Given the description of an element on the screen output the (x, y) to click on. 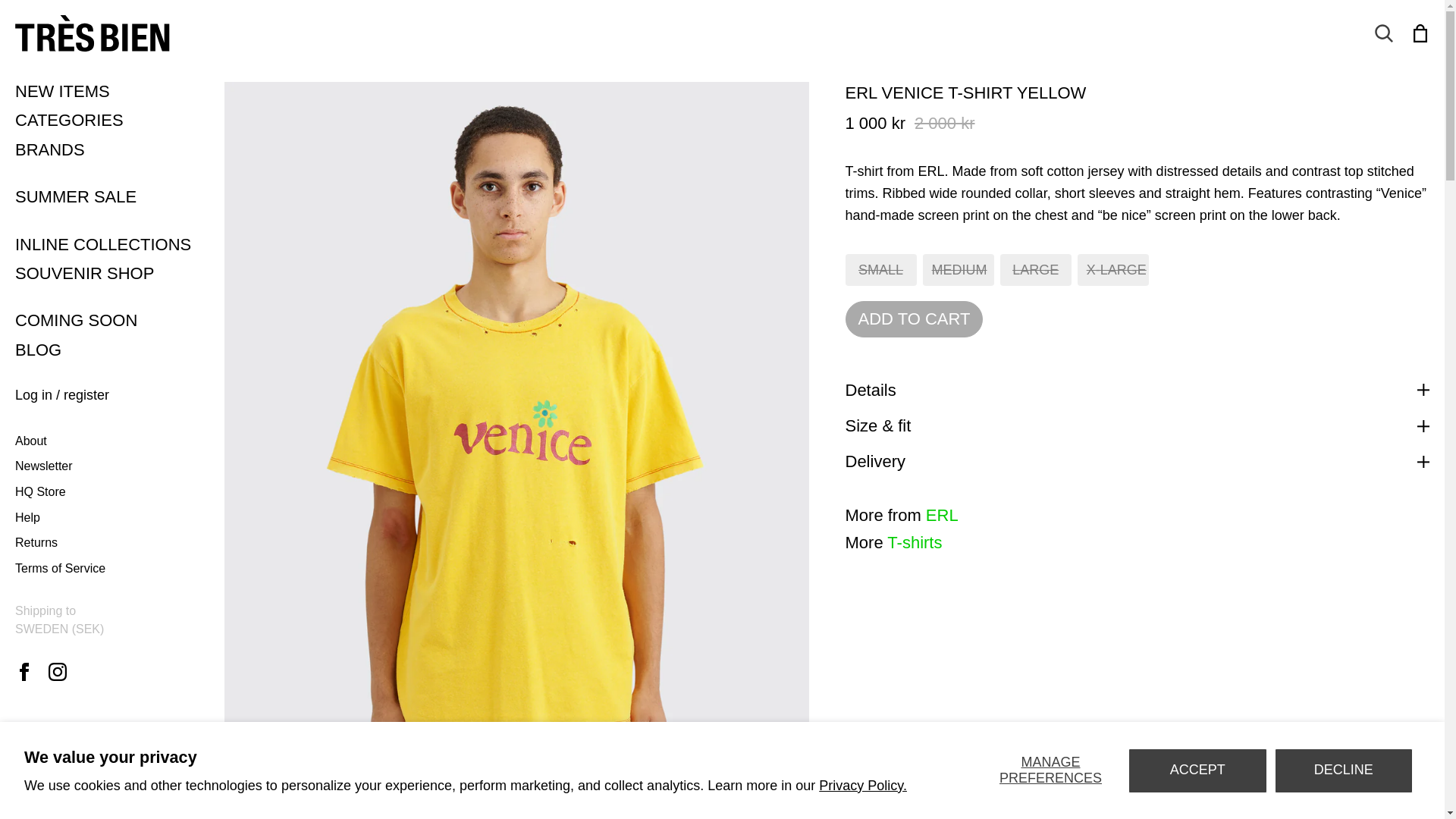
T-shirts (914, 542)
MANAGE PREFERENCES (1050, 770)
BRANDS (113, 149)
ACCEPT (1197, 770)
ERL (1419, 33)
Privacy Policy. (942, 515)
SEARCH (862, 785)
